Given the description of an element on the screen output the (x, y) to click on. 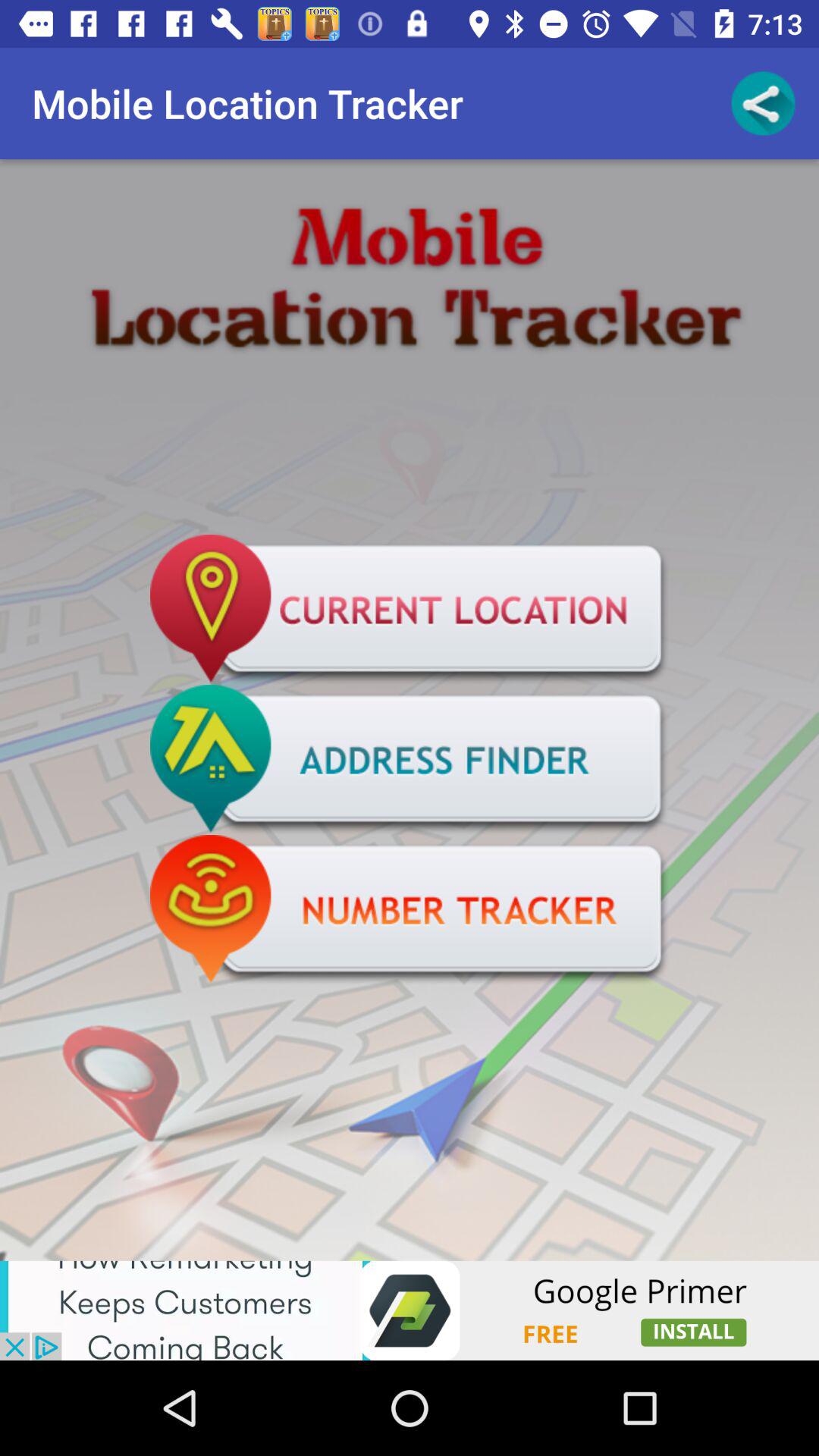
select number tracker (409, 909)
